Given the description of an element on the screen output the (x, y) to click on. 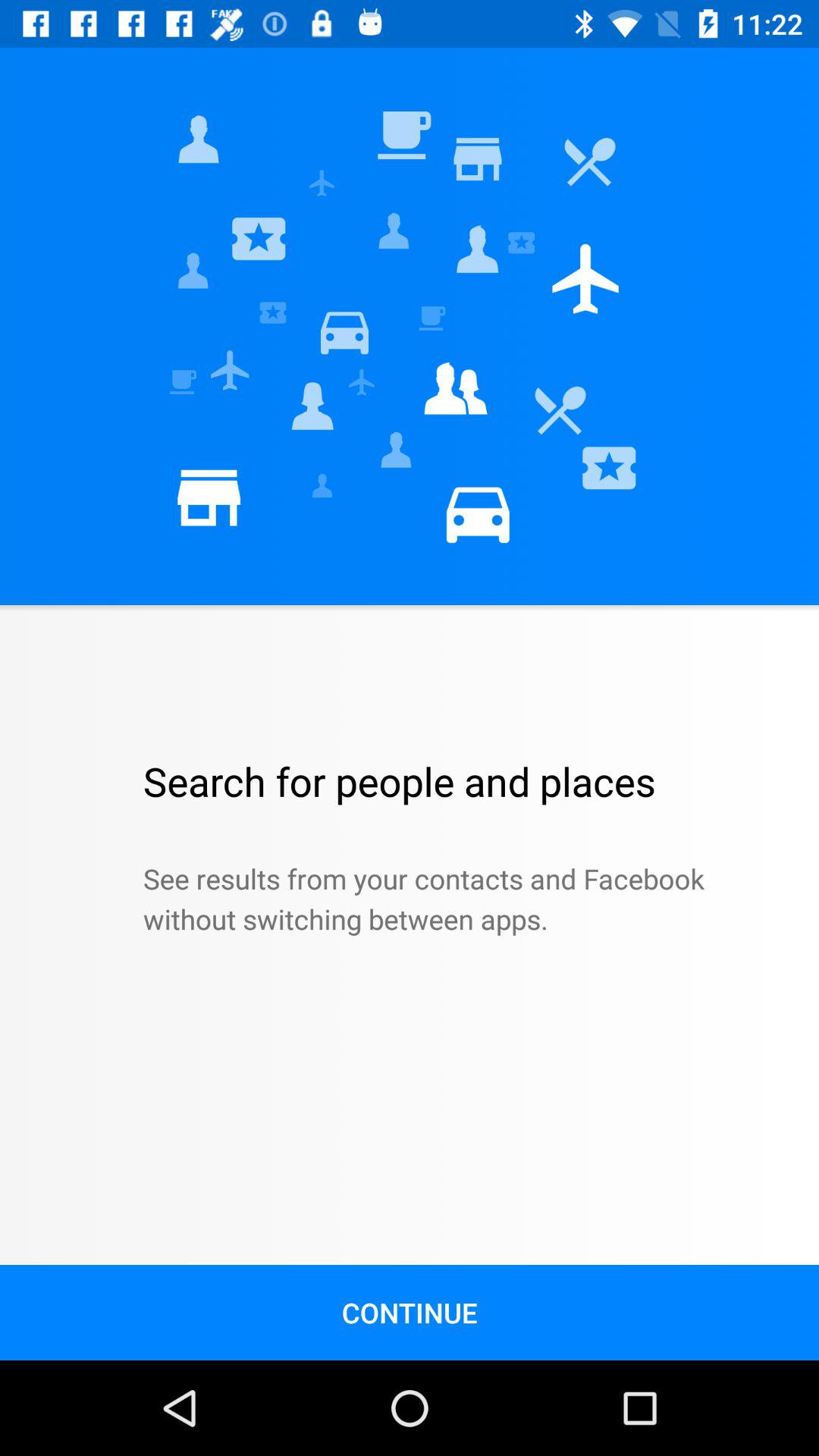
launch the icon below see results from icon (409, 1312)
